Given the description of an element on the screen output the (x, y) to click on. 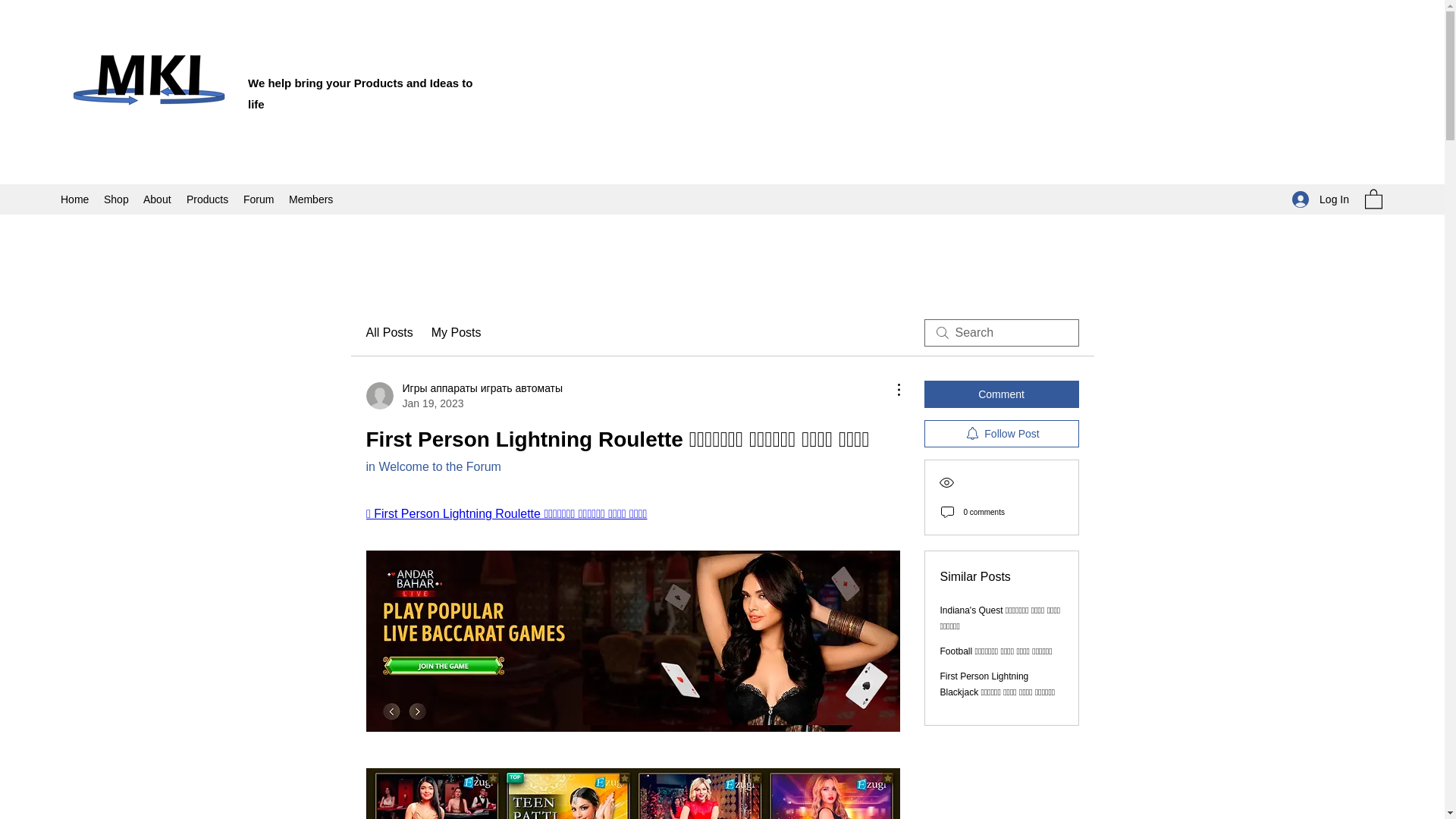
About (157, 199)
Members (310, 199)
My Posts (455, 332)
Follow Post (1000, 433)
Shop (115, 199)
Log In (1320, 199)
All Posts (388, 332)
Forum (258, 199)
Products (207, 199)
Comment (1000, 393)
in Welcome to the Forum (432, 466)
Home (74, 199)
